Given the description of an element on the screen output the (x, y) to click on. 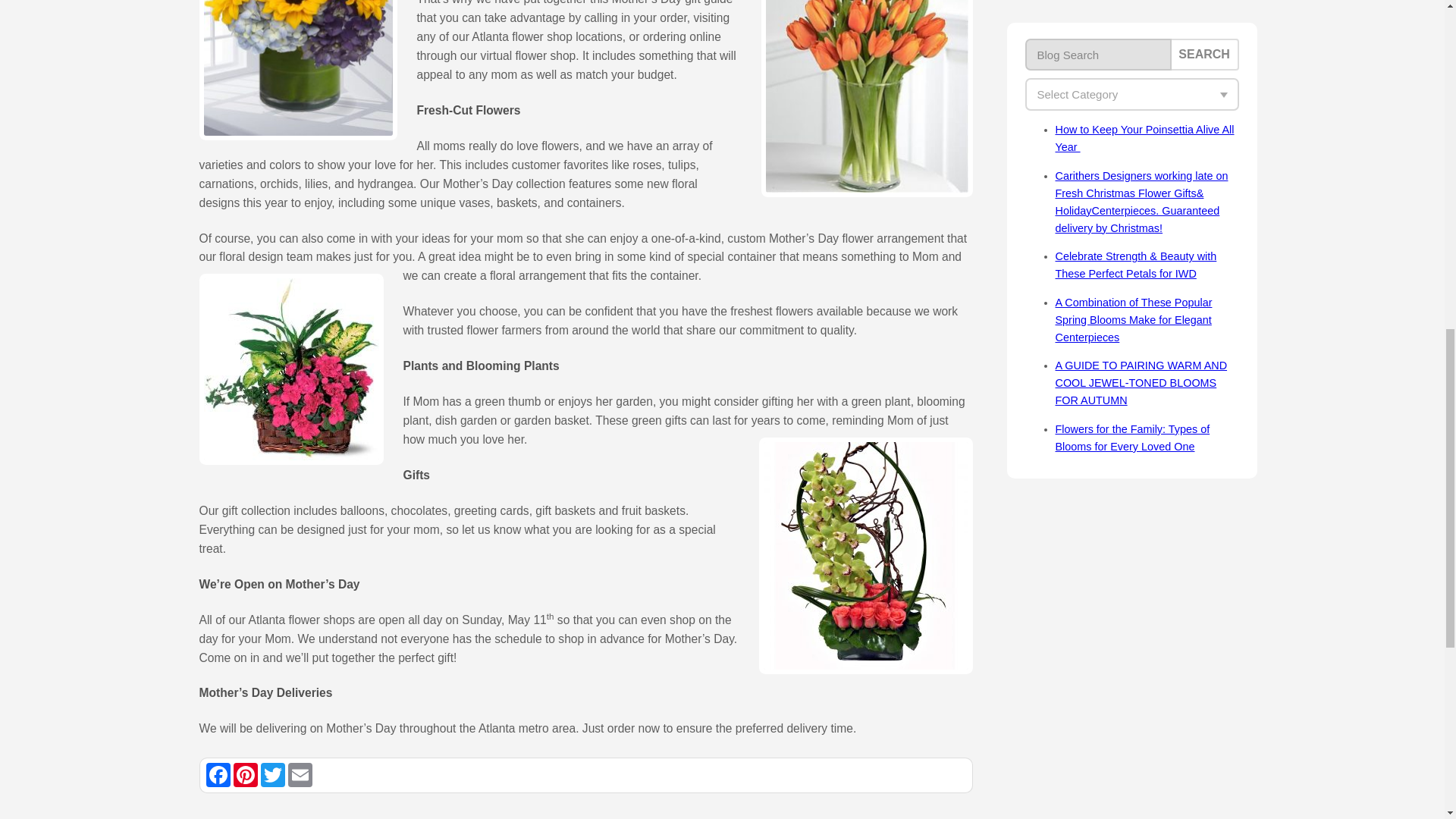
Facebook (218, 774)
Email (300, 774)
Facebook (218, 774)
Twitter (272, 774)
Twitter (272, 774)
Pinterest (245, 774)
Email (300, 774)
Pinterest (245, 774)
